Given the description of an element on the screen output the (x, y) to click on. 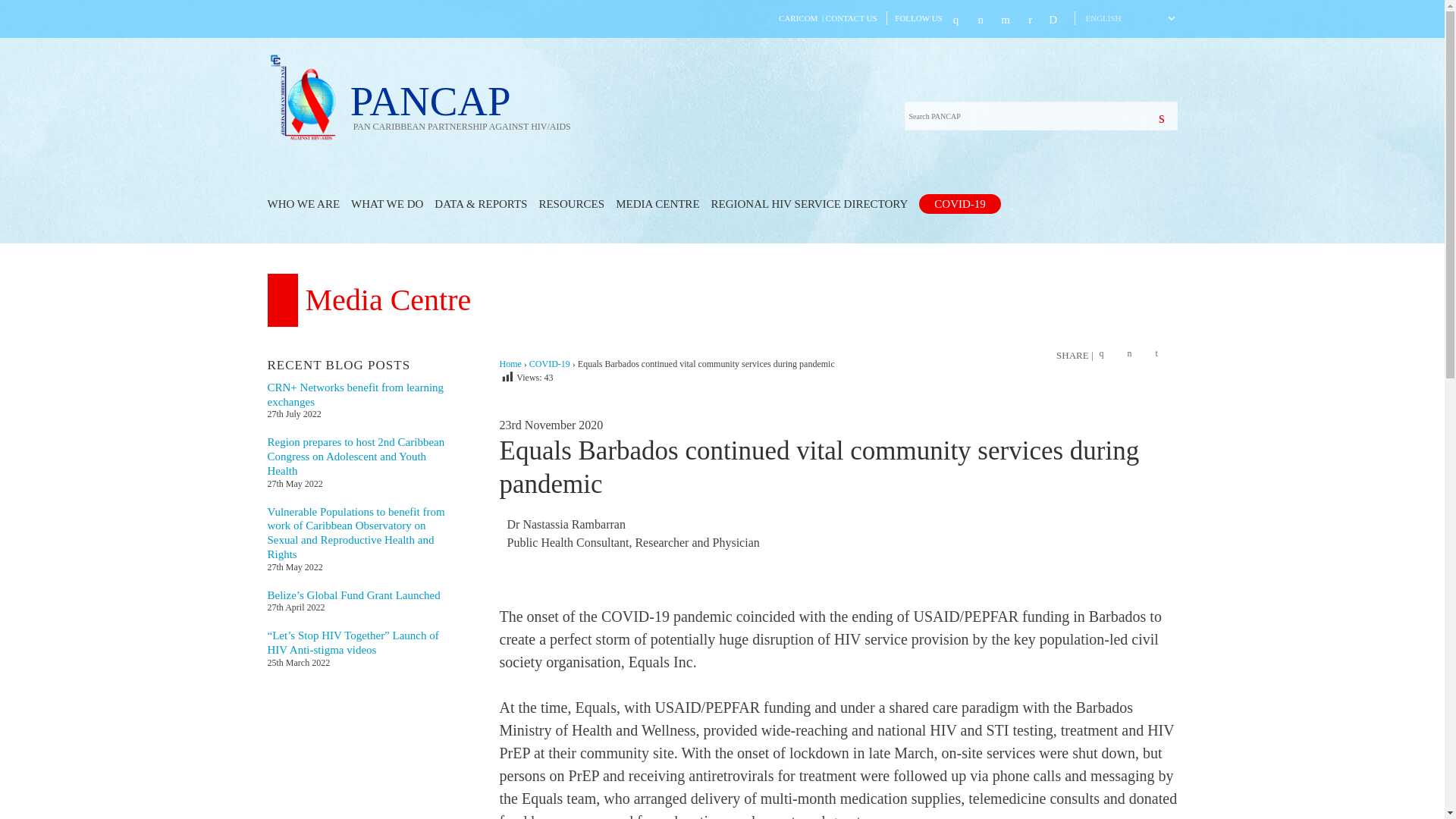
Click to share on Facebook (1105, 354)
CONTACT US (851, 17)
PANCAP (306, 138)
CARICOM (797, 17)
Click to email this to a friend (1161, 354)
PANCAP (460, 105)
Click to share on Twitter (1132, 354)
